Given the description of an element on the screen output the (x, y) to click on. 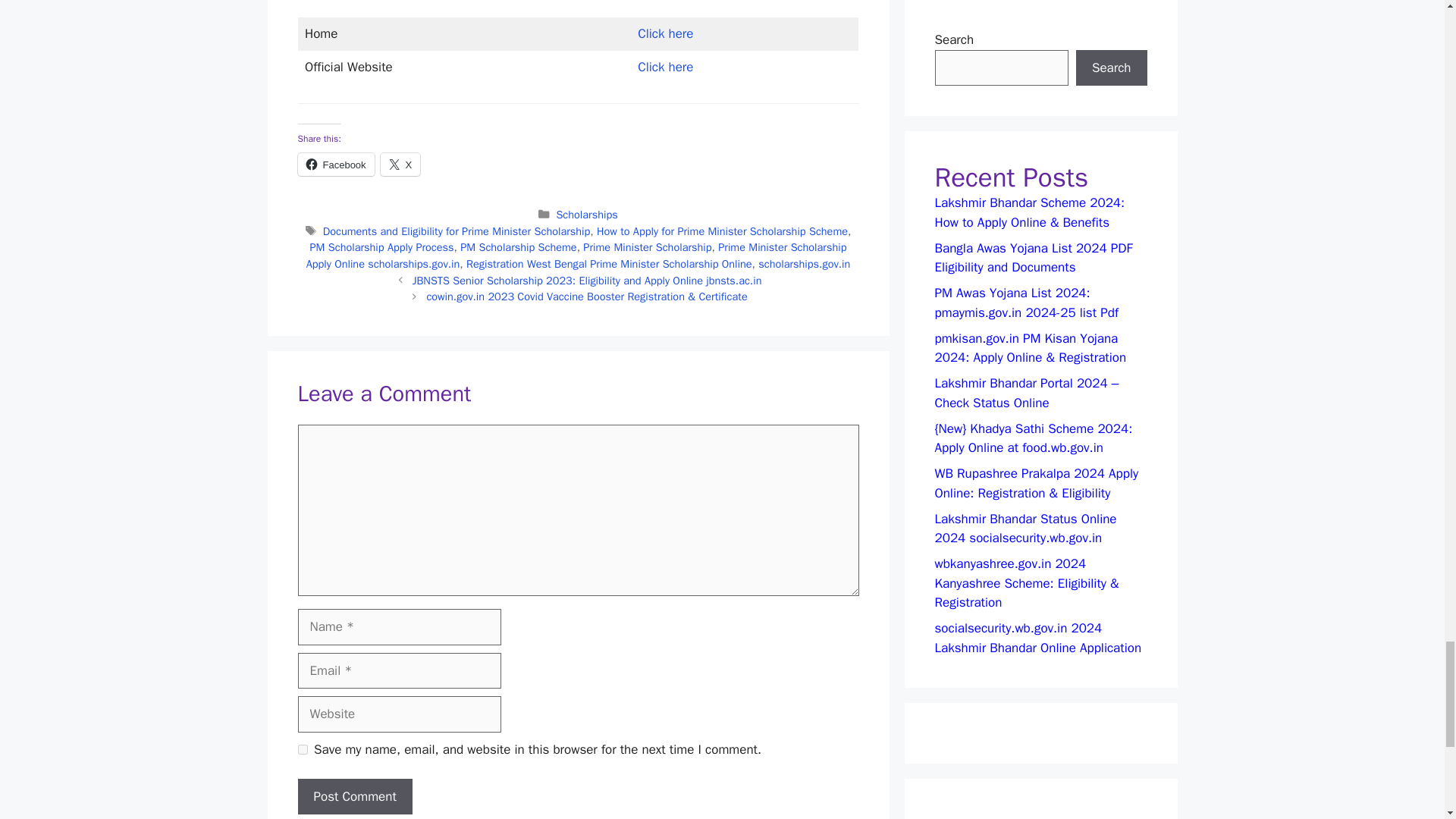
Registration West Bengal Prime Minister Scholarship Online (608, 264)
Click here (665, 33)
PM Scholarship Scheme (518, 246)
X (400, 164)
yes (302, 749)
Prime Minister Scholarship (647, 246)
Post Comment (354, 796)
Documents and Eligibility for Prime Minister Scholarship (457, 231)
Prime Minister Scholarship Apply Online scholarships.gov.in (576, 255)
